Given the description of an element on the screen output the (x, y) to click on. 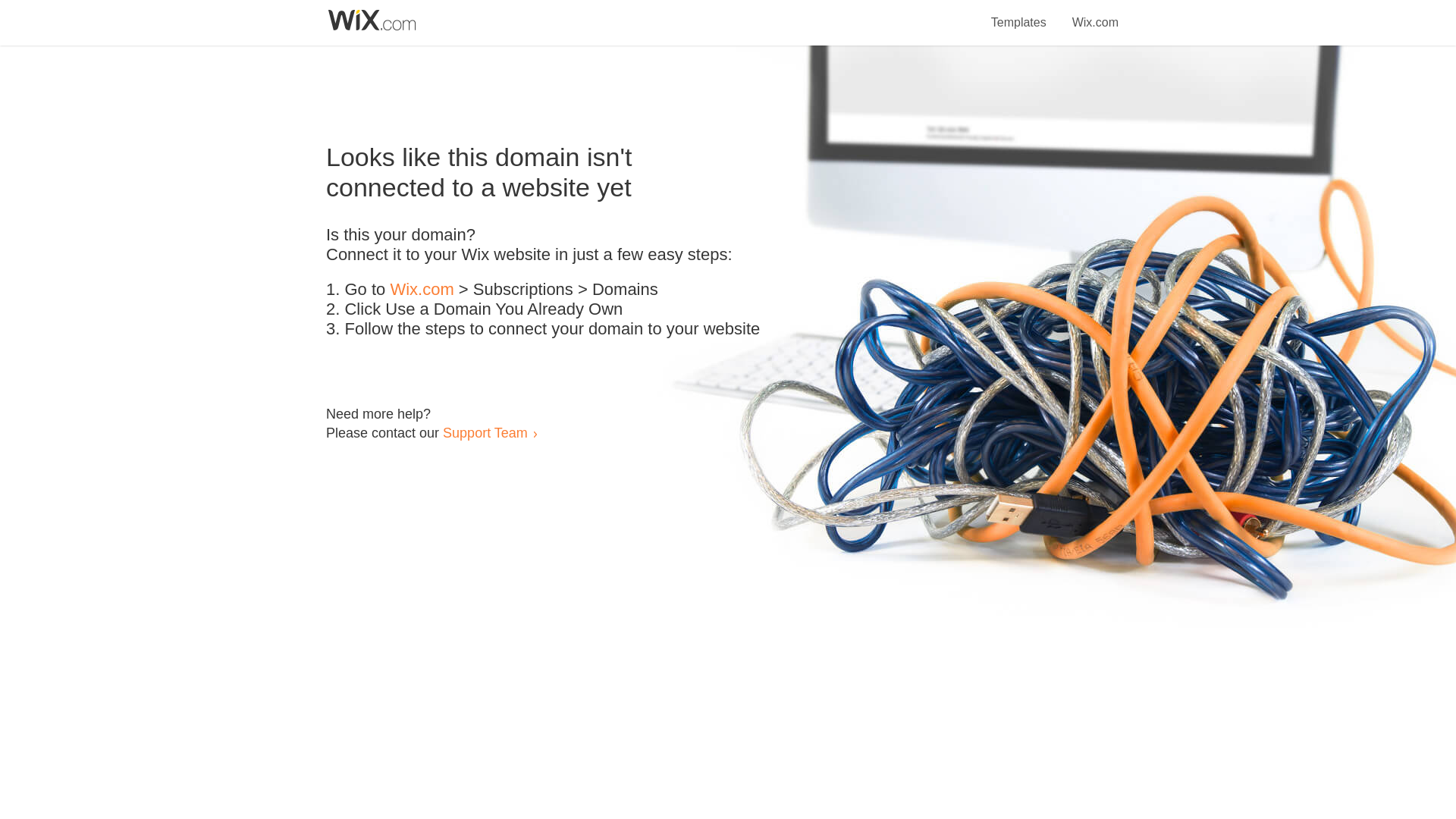
Wix.com (1095, 14)
Wix.com (421, 289)
Templates (1018, 14)
Support Team (484, 432)
